Given the description of an element on the screen output the (x, y) to click on. 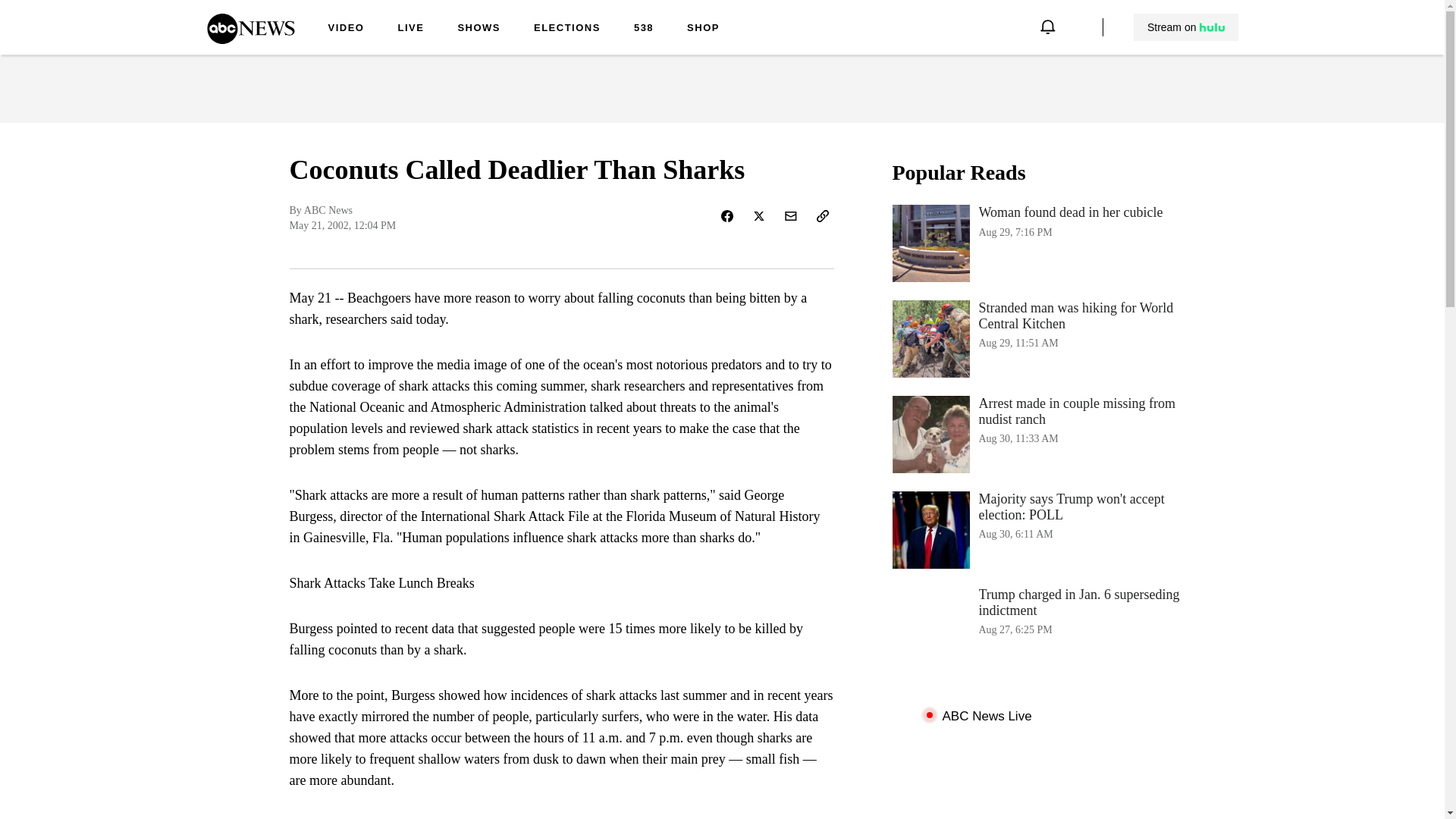
SHOWS (478, 28)
Stream on (1185, 27)
SHOP (703, 28)
Stream on (1186, 26)
VIDEO (345, 28)
ELECTIONS (566, 28)
LIVE (1043, 242)
